Given the description of an element on the screen output the (x, y) to click on. 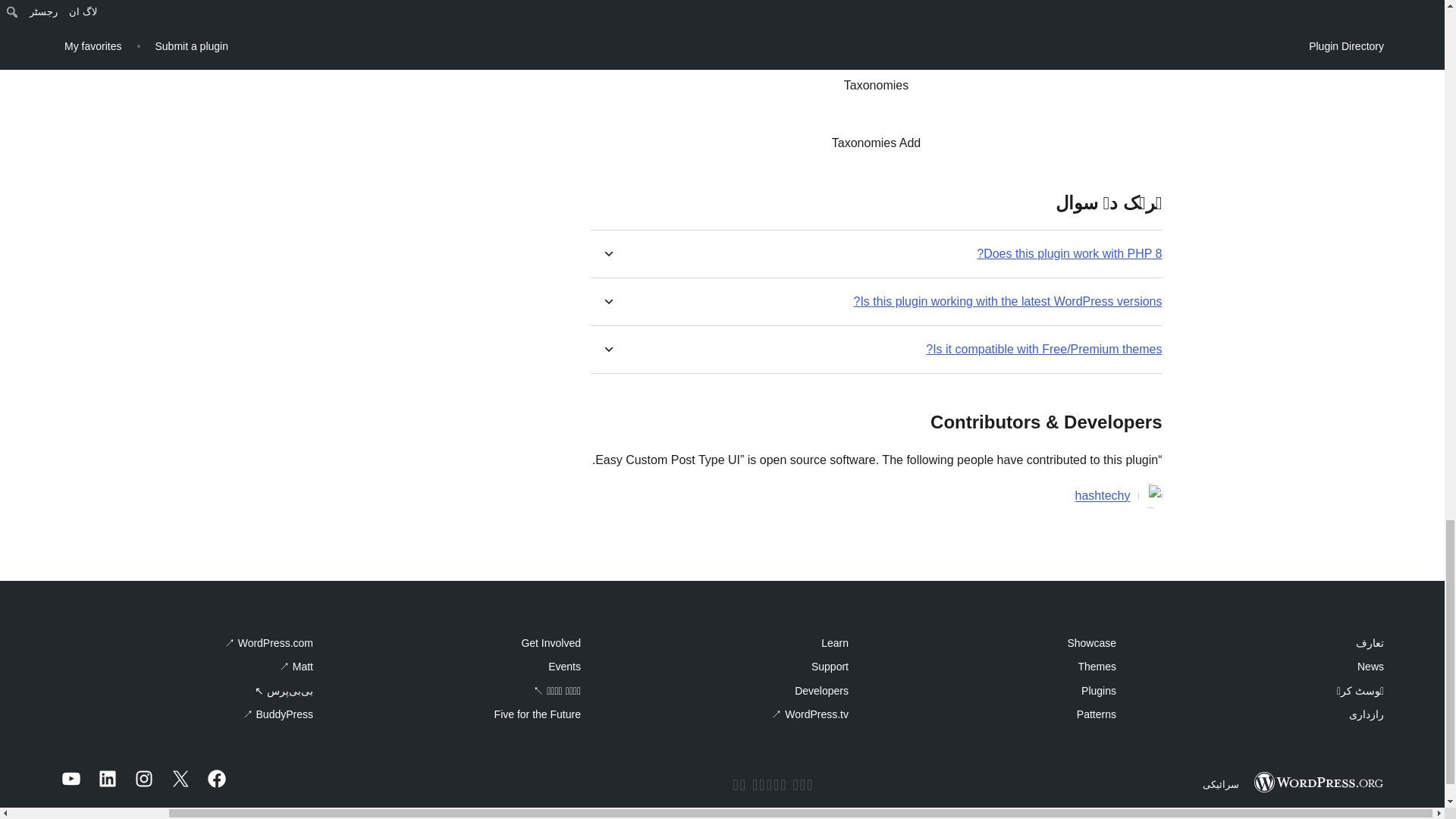
WordPress.org (1318, 782)
hashtechy (1103, 495)
